Given the description of an element on the screen output the (x, y) to click on. 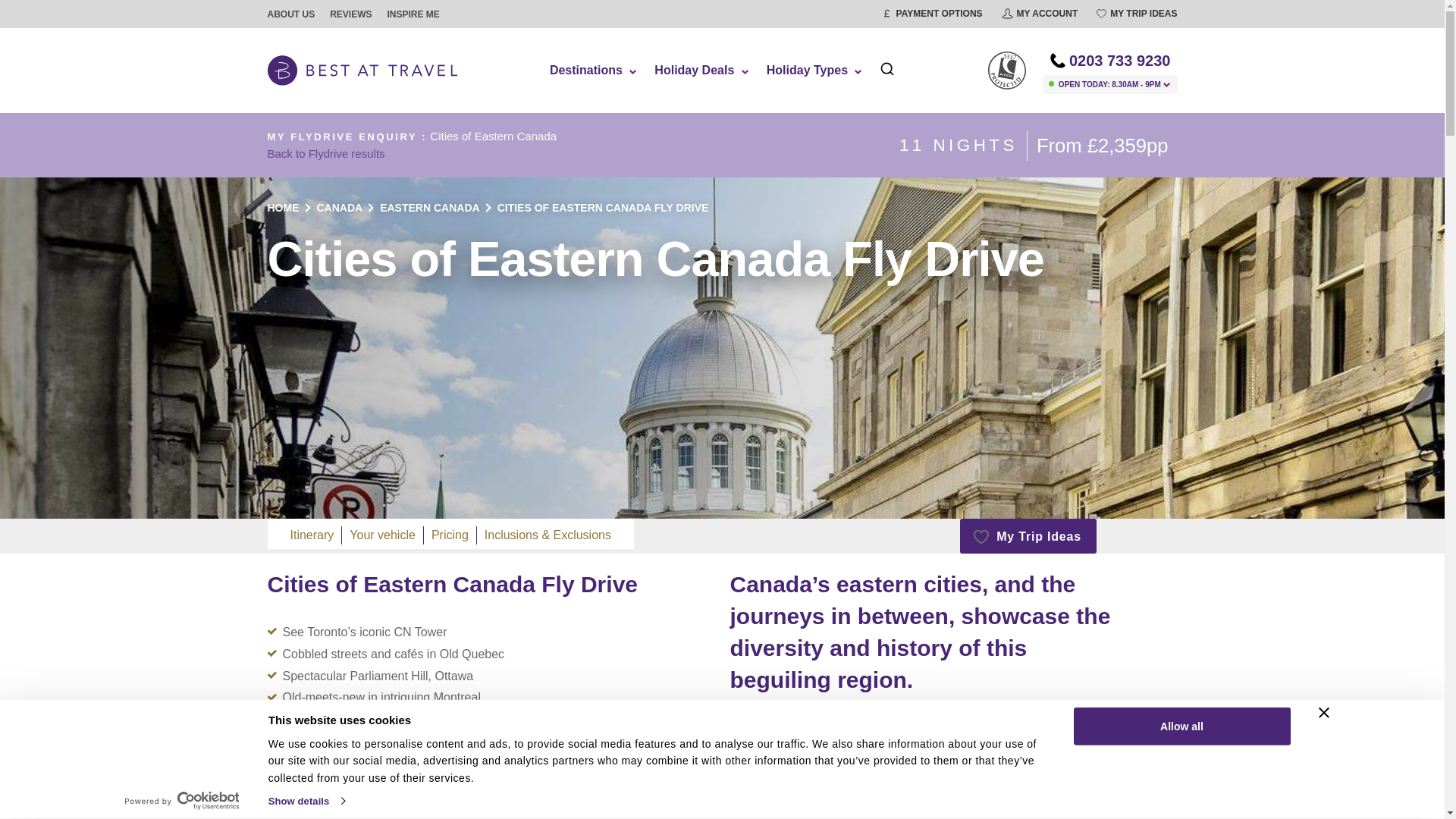
Show details (306, 800)
